Given the description of an element on the screen output the (x, y) to click on. 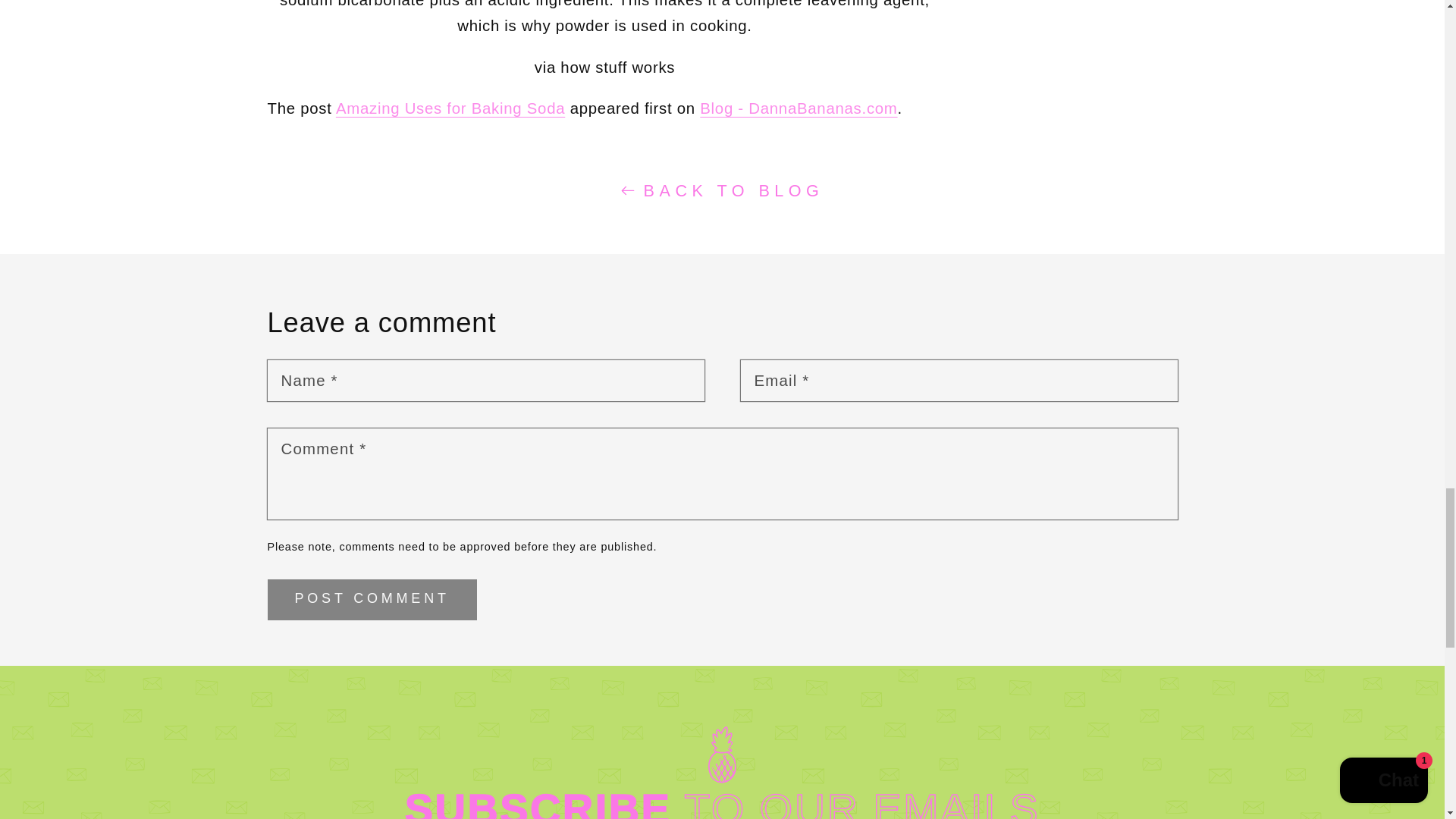
Post comment (371, 599)
